Given the description of an element on the screen output the (x, y) to click on. 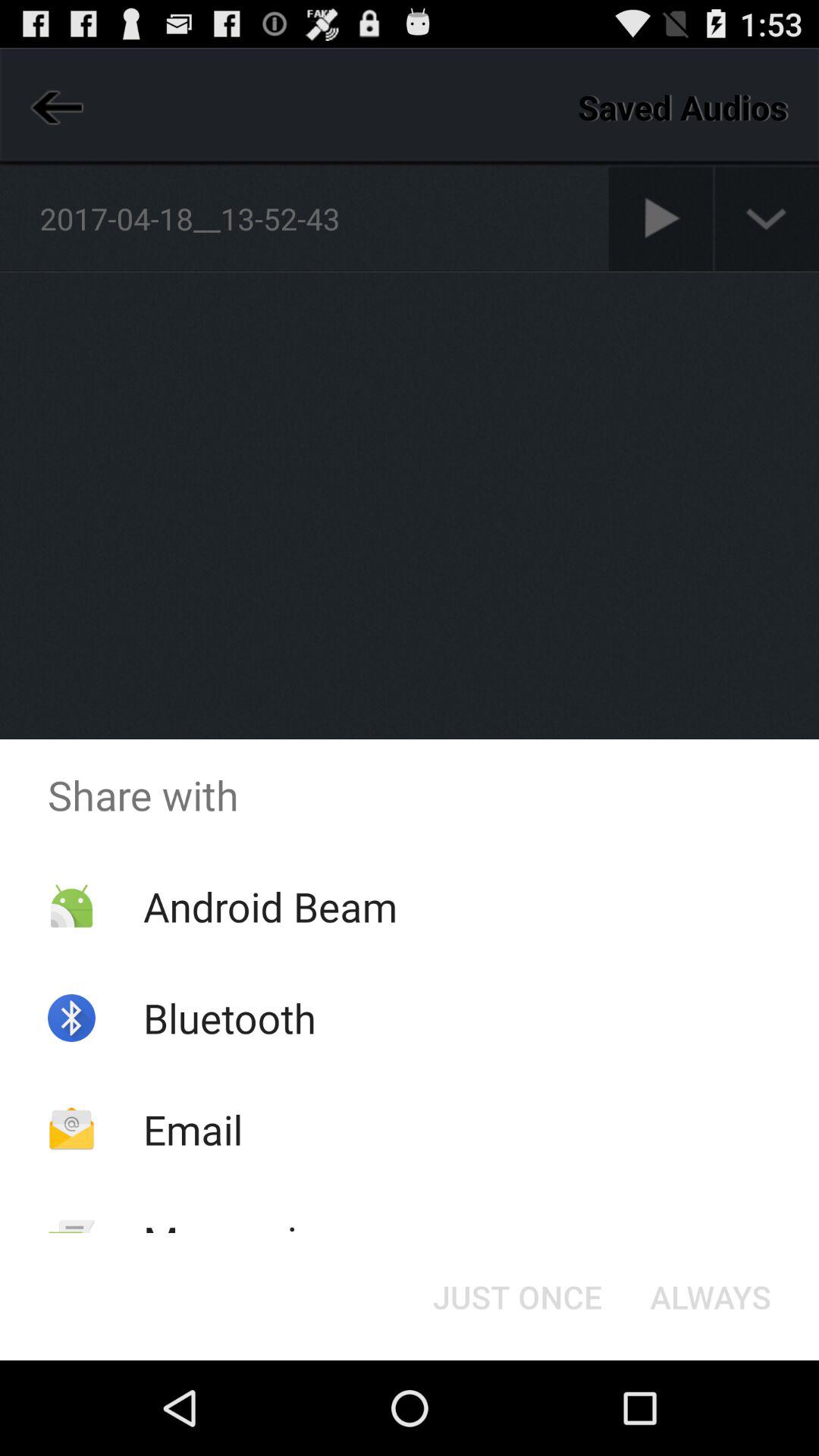
choose the button at the bottom (517, 1296)
